Given the description of an element on the screen output the (x, y) to click on. 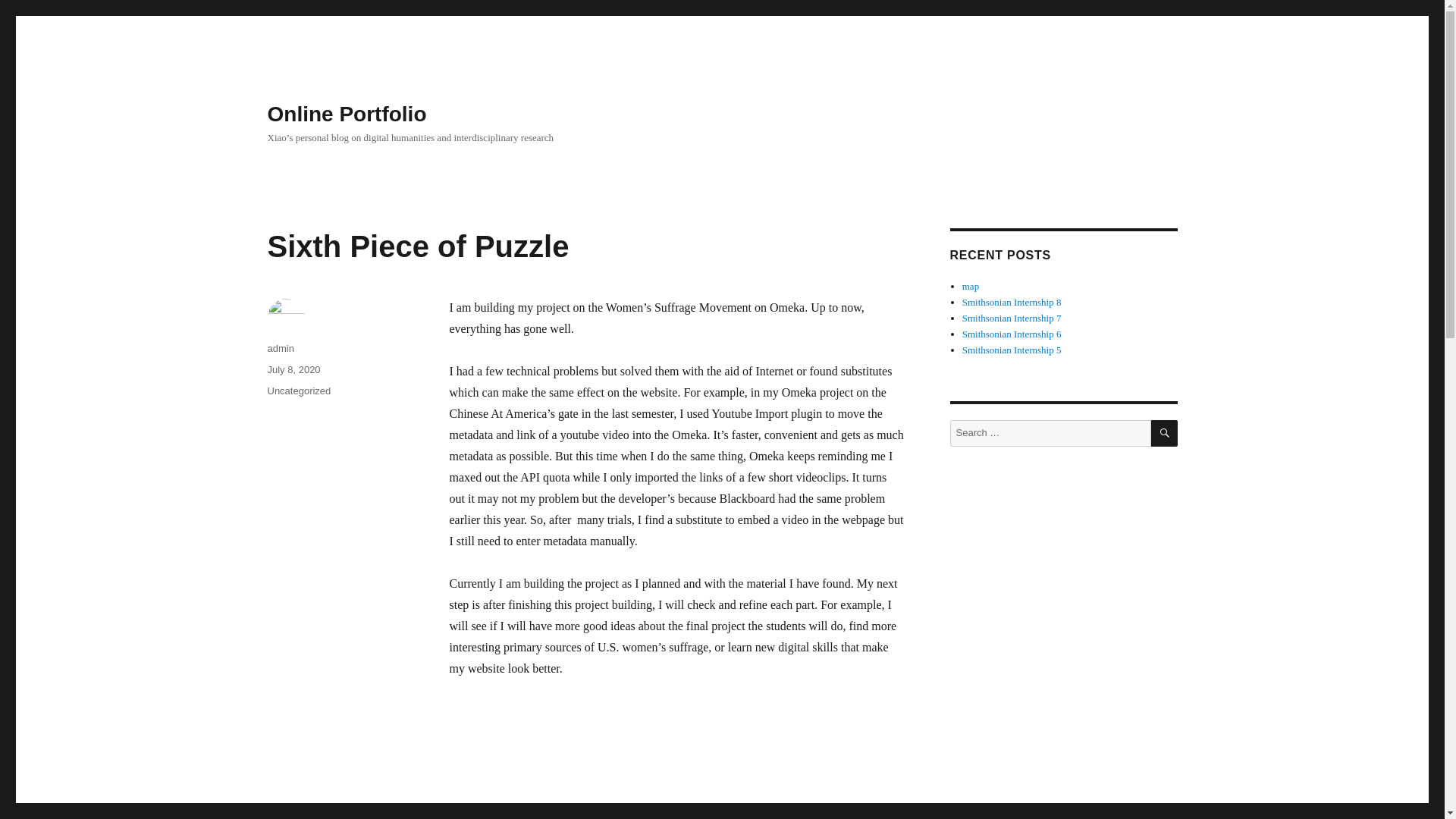
Uncategorized (298, 390)
Smithsonian Internship 8 (1011, 301)
July 8, 2020 (293, 369)
Smithsonian Internship 6 (1011, 333)
admin (280, 348)
Online Portfolio (346, 114)
map (970, 285)
Smithsonian Internship 5 (1011, 349)
Smithsonian Internship 7 (1011, 317)
SEARCH (1164, 433)
